Given the description of an element on the screen output the (x, y) to click on. 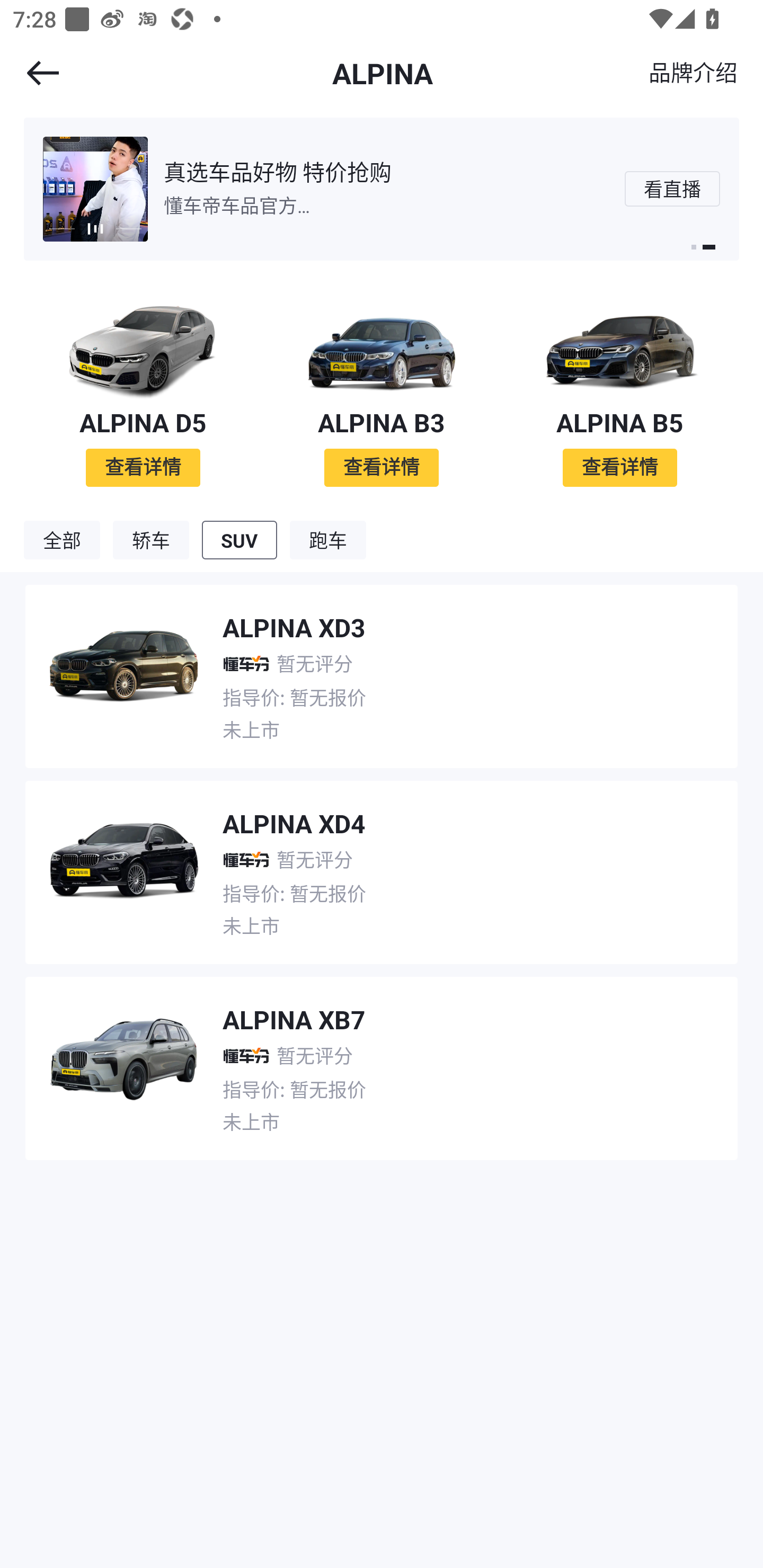
 (30, 72)
品牌介绍 (692, 71)
真选车品好物 特价抢购 懂车帝车品官方直播间 看直播 (381, 188)
ALPINA D5 查看详情 (142, 390)
ALPINA B3 查看详情 (381, 390)
ALPINA B5 查看详情 (619, 390)
查看详情 (143, 467)
查看详情 (381, 467)
查看详情 (619, 467)
全部 (61, 539)
轿车 (150, 539)
SUV (239, 539)
跑车 (327, 539)
ALPINA XD3 暂无评分 指导价: 暂无报价 未上市 (381, 670)
ALPINA XD4 暂无评分 指导价: 暂无报价 未上市 (381, 866)
ALPINA XB7 暂无评分 指导价: 暂无报价 未上市 (381, 1062)
